Given the description of an element on the screen output the (x, y) to click on. 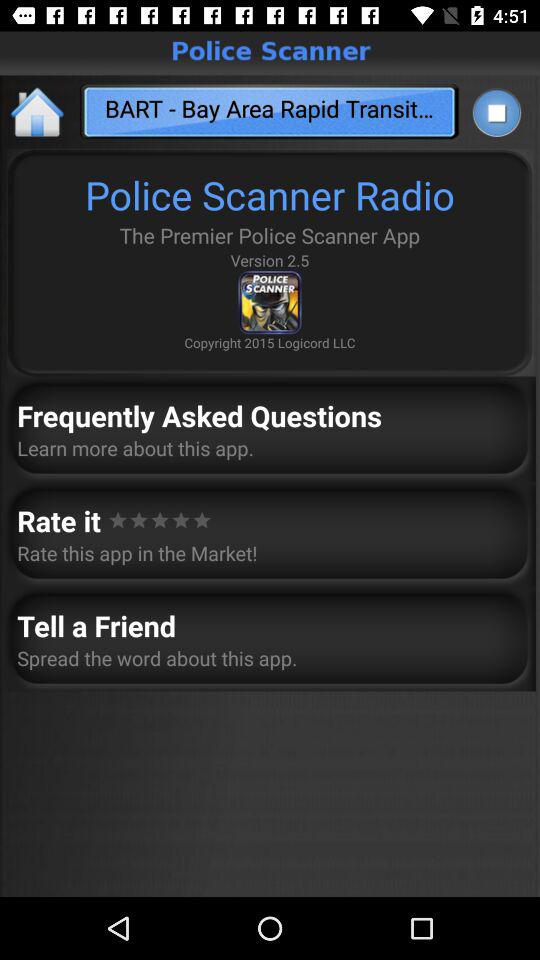
turn off icon above the frequently asked questions item (38, 111)
